Given the description of an element on the screen output the (x, y) to click on. 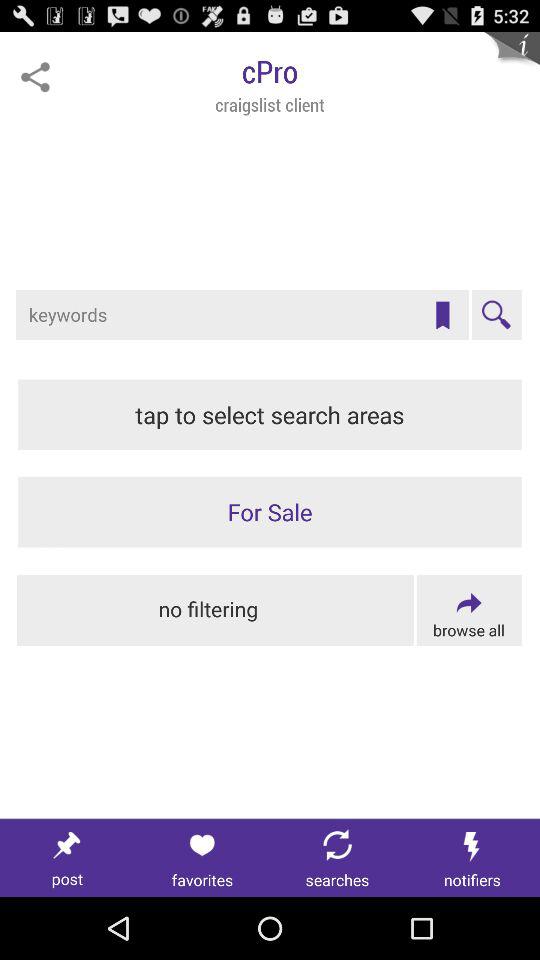
bookmark here (442, 315)
